Given the description of an element on the screen output the (x, y) to click on. 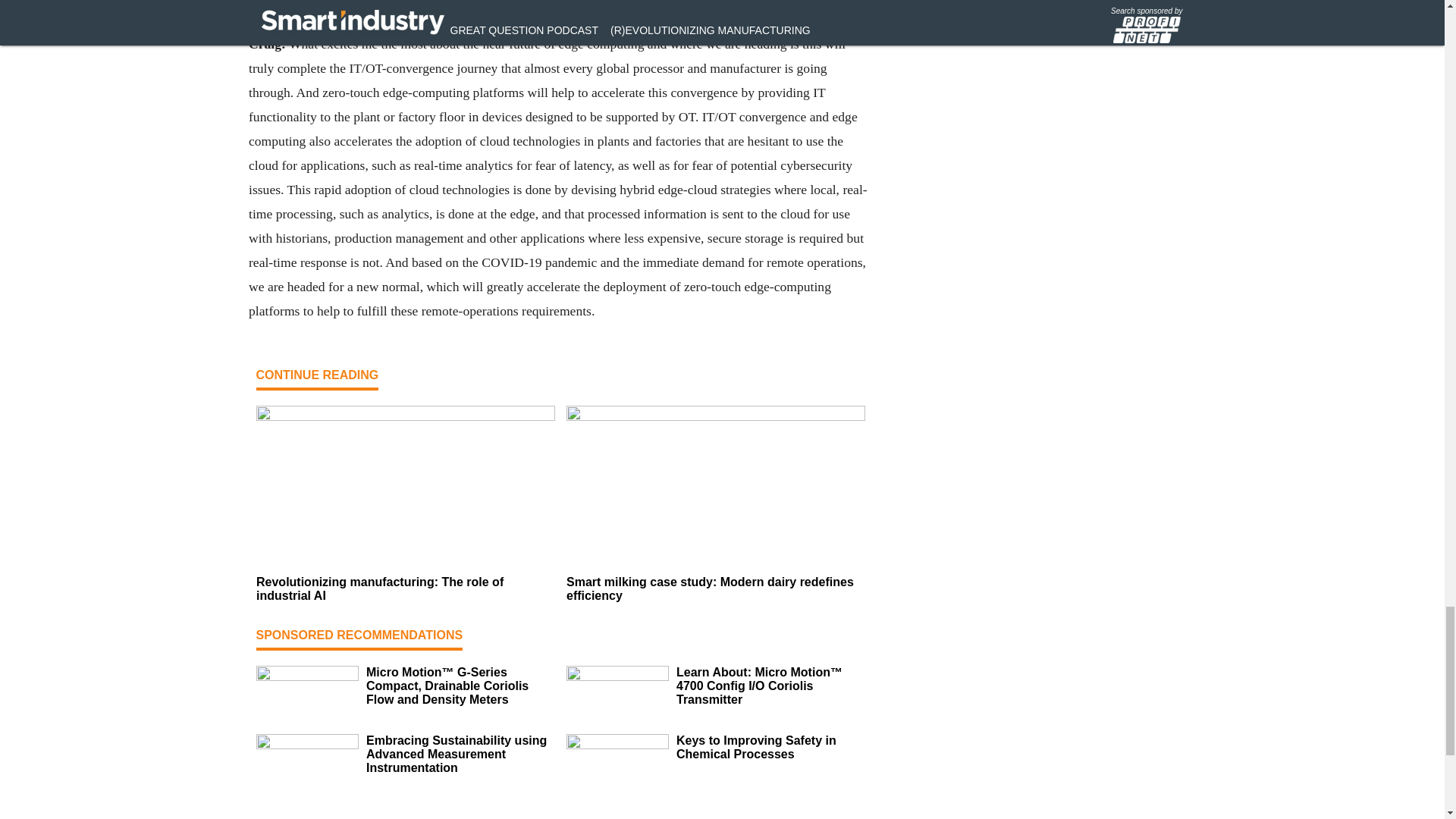
Keys to Improving Safety in Chemical Processes (770, 747)
Revolutionizing manufacturing: The role of industrial AI (405, 588)
Smart milking case study: Modern dairy redefines efficiency (715, 588)
